Given the description of an element on the screen output the (x, y) to click on. 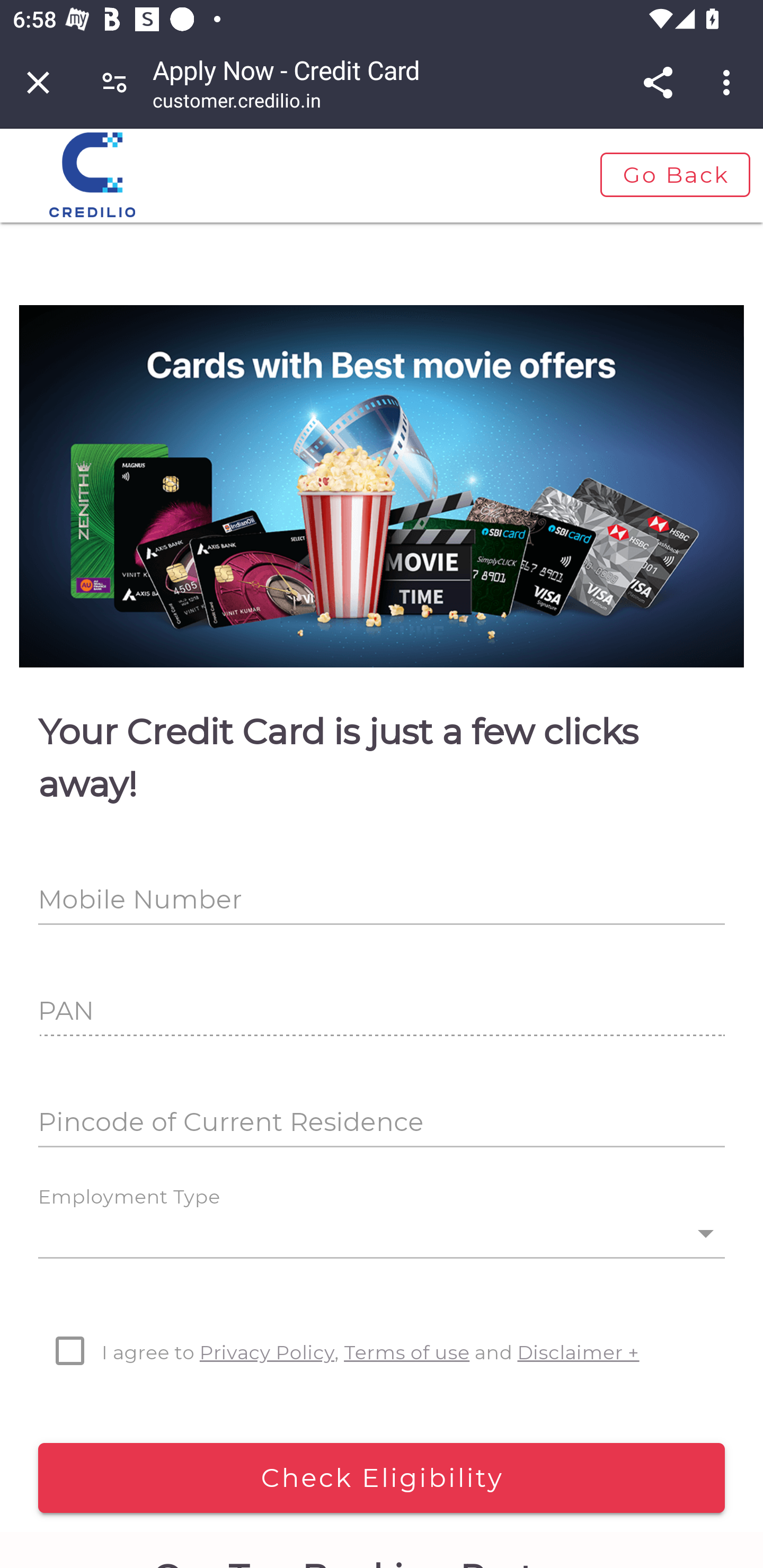
Close tab (38, 82)
Share (657, 82)
Customize and control Google Chrome (729, 82)
Connection is secure (114, 81)
customer.credilio.in (236, 103)
Go Back (674, 174)
Privacy Policy (266, 1352)
Terms of use (406, 1352)
Check Eligibility (381, 1477)
